Given the description of an element on the screen output the (x, y) to click on. 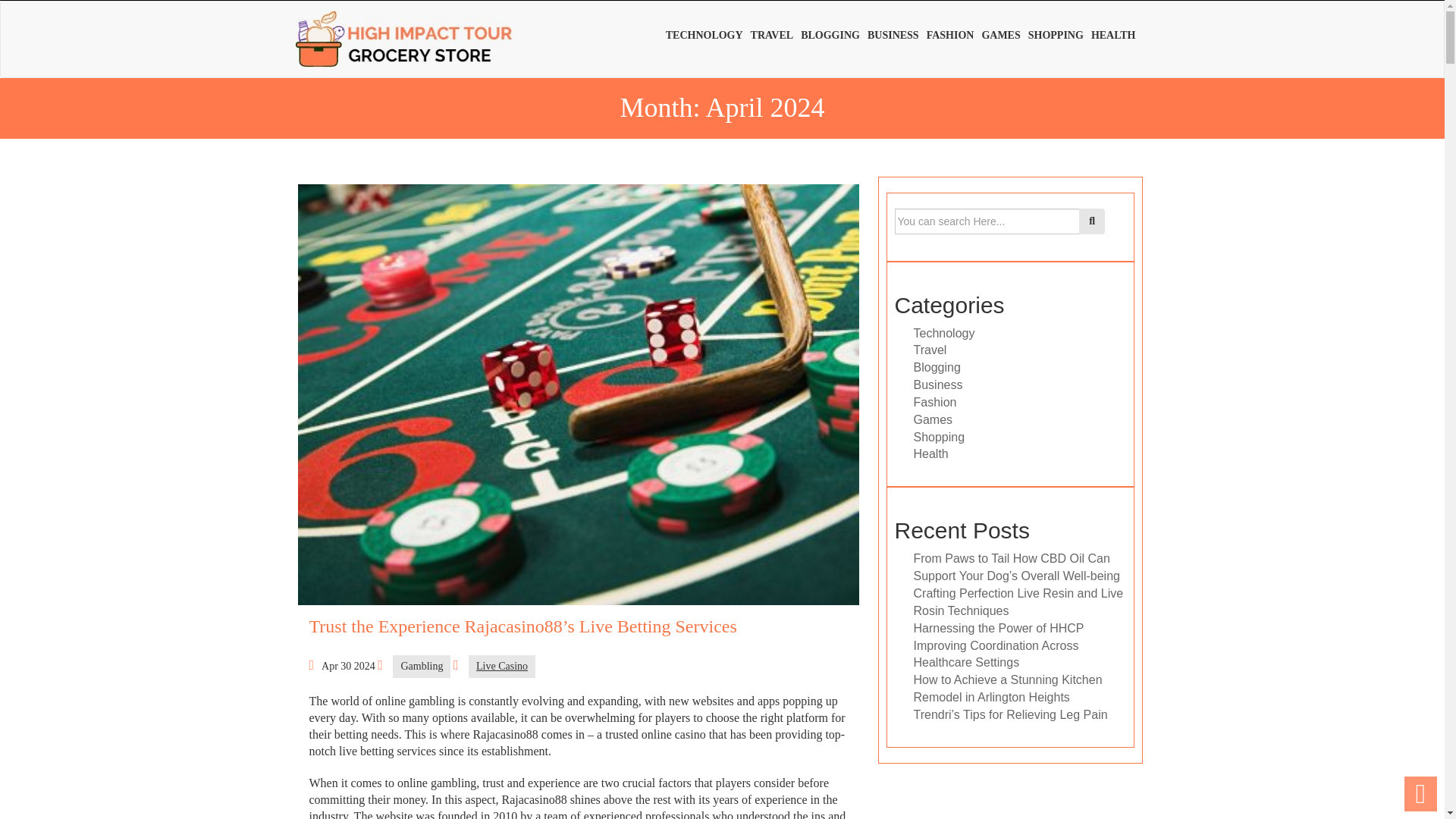
TECHNOLOGY (708, 33)
BLOGGING (833, 33)
Gambling (421, 666)
Live Casino (501, 666)
SHOPPING (1058, 33)
